Given the description of an element on the screen output the (x, y) to click on. 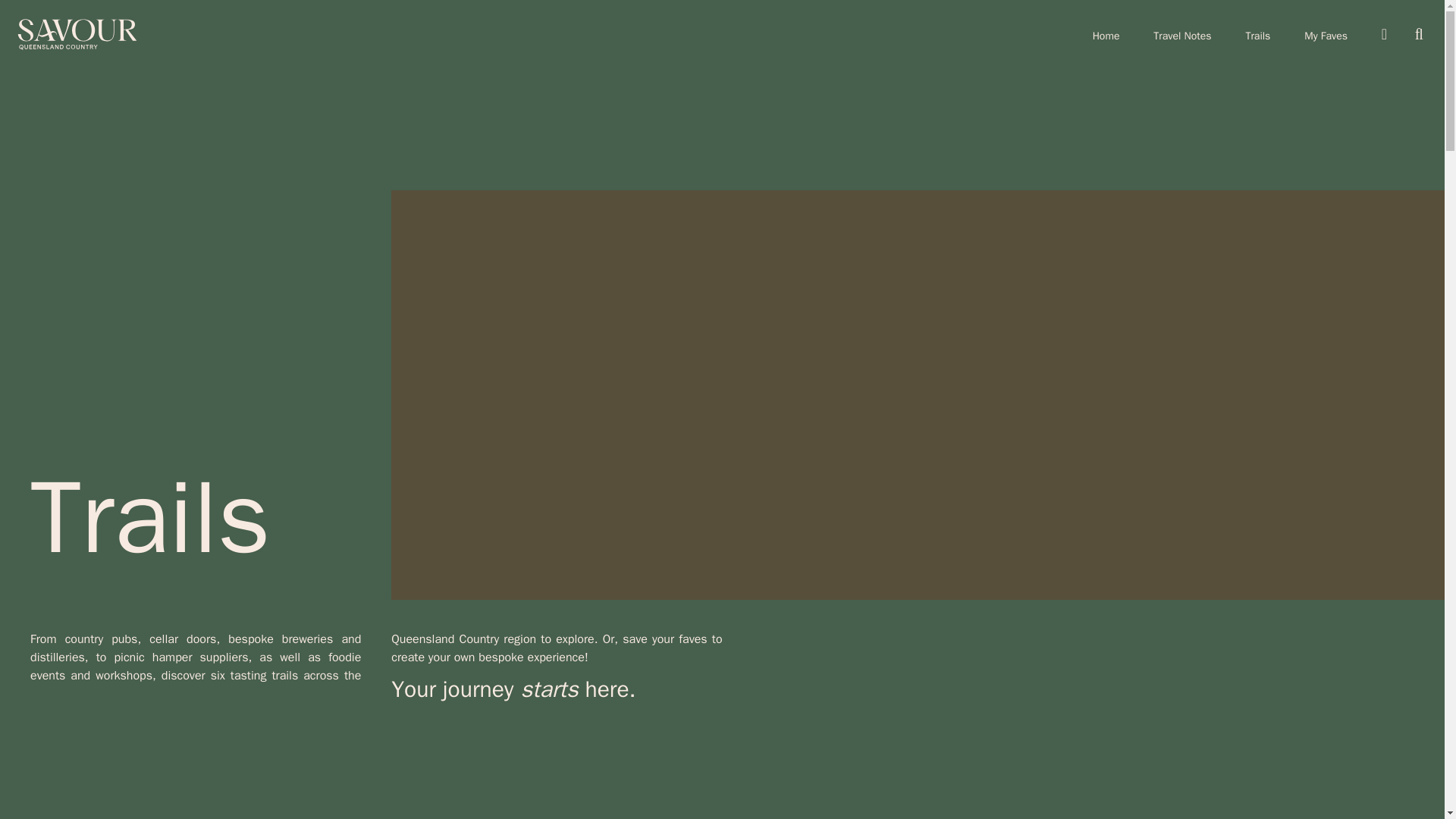
Travel Notes (1182, 35)
Trails (1256, 35)
My Faves (1326, 35)
Home (1106, 35)
